Given the description of an element on the screen output the (x, y) to click on. 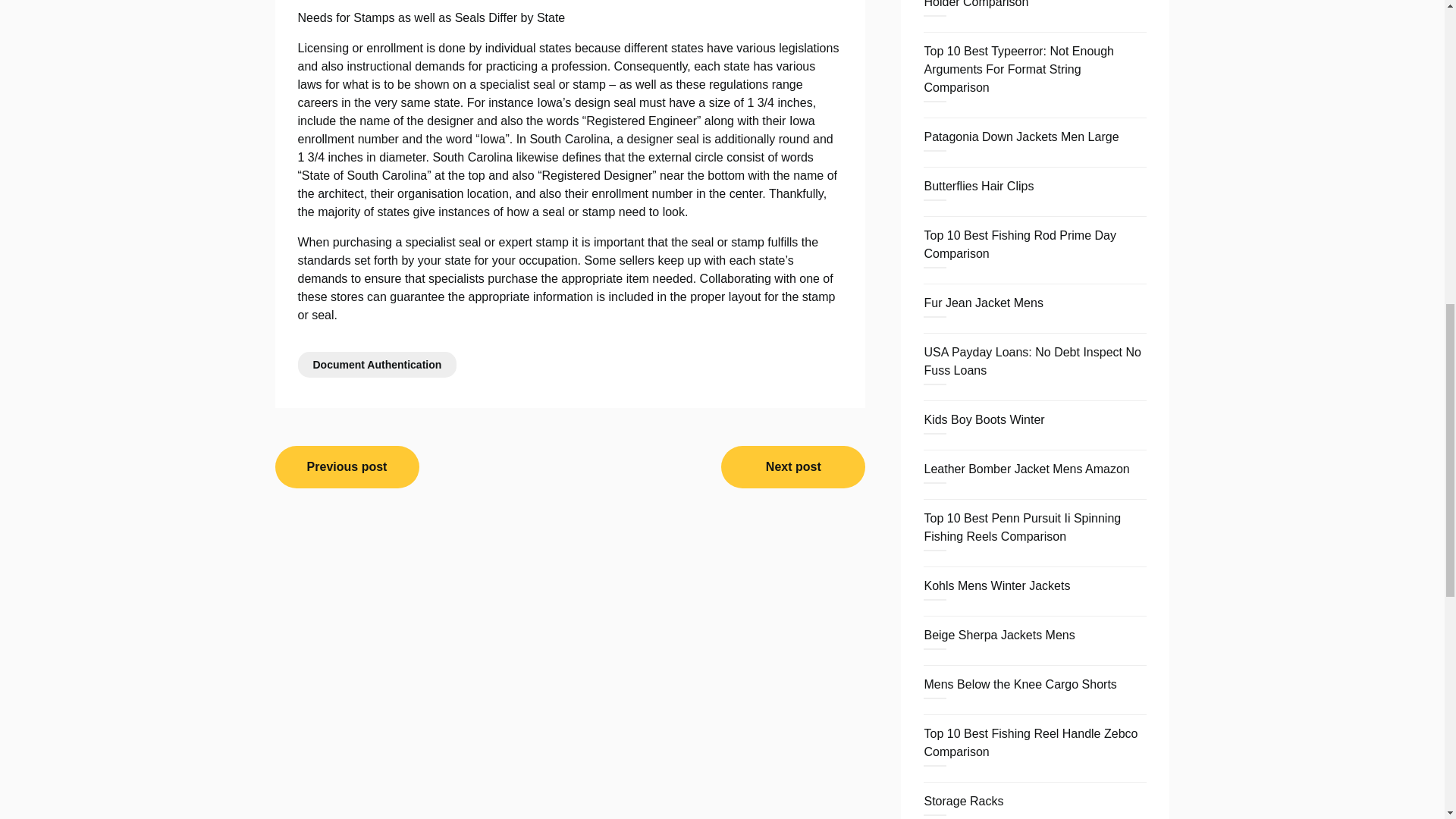
Patagonia Down Jackets Men Large (1020, 136)
Kids Boy Boots Winter (983, 419)
Butterflies Hair Clips (978, 185)
Leather Bomber Jacket Mens Amazon (1026, 468)
Kohls Mens Winter Jackets (996, 585)
Mens Below the Knee Cargo Shorts (1019, 684)
USA Payday Loans: No Debt Inspect No Fuss Loans (1031, 360)
Top 10 Best Fishing Reel Toilet Paper Holder Comparison (1024, 4)
Document Authentication (377, 364)
Top 10 Best Fishing Rod Prime Day Comparison (1019, 244)
